Given the description of an element on the screen output the (x, y) to click on. 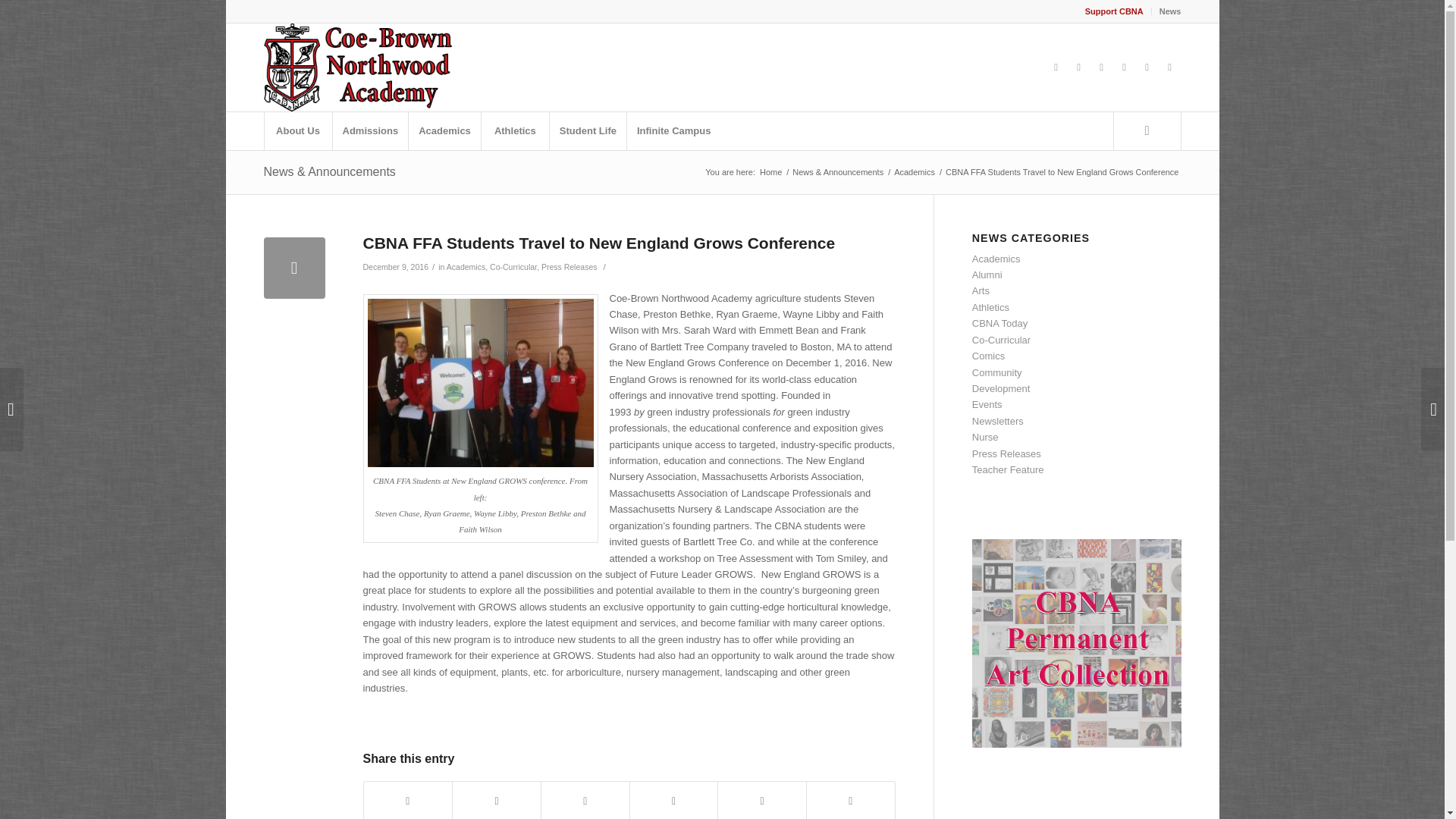
Admissions (370, 130)
About Us (297, 130)
Coe-Brown Northwood Academy (770, 172)
Academics (443, 130)
